Given the description of an element on the screen output the (x, y) to click on. 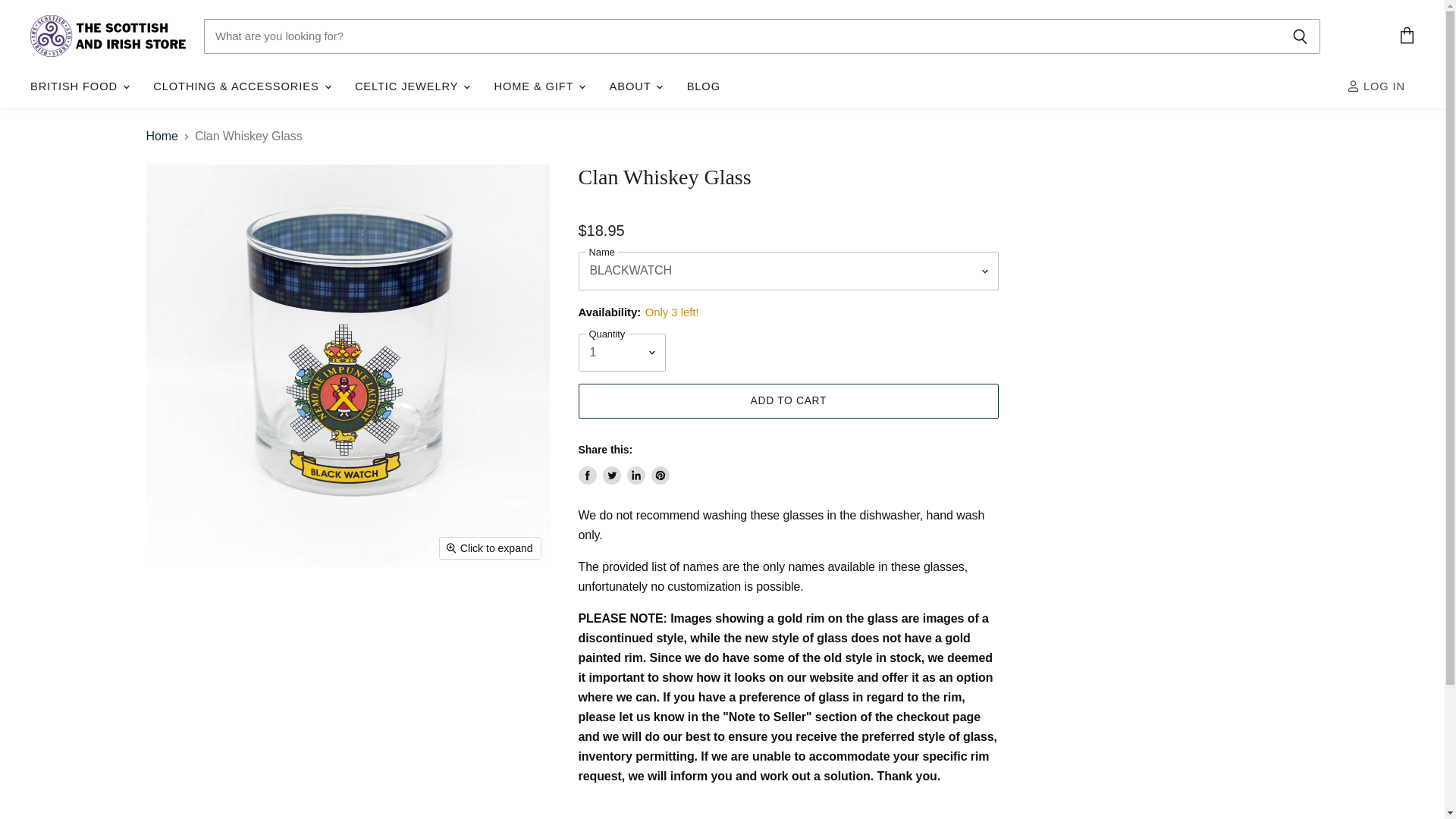
BRITISH FOOD (78, 86)
ACCOUNT ICON (1352, 85)
